Given the description of an element on the screen output the (x, y) to click on. 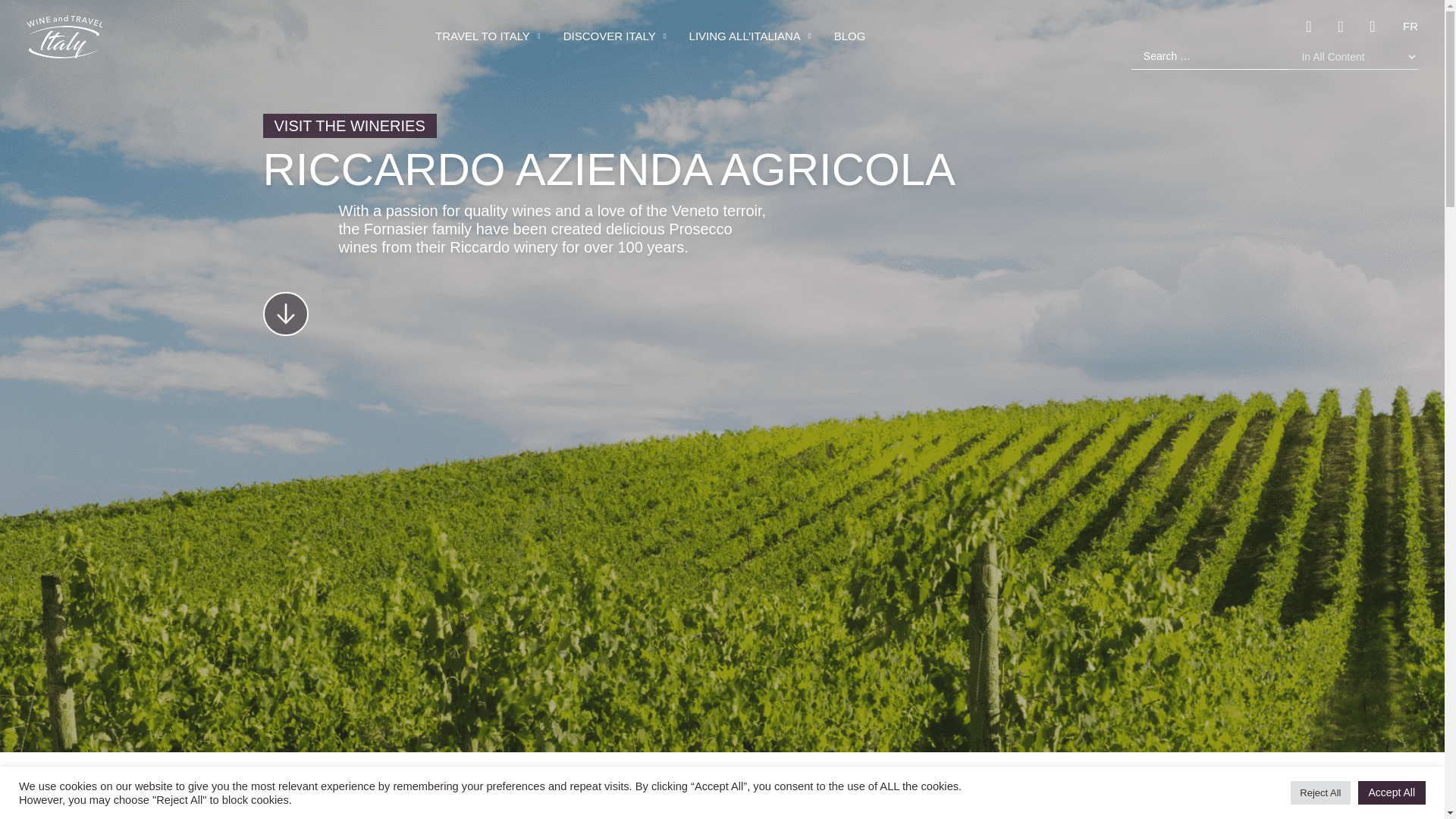
TRAVEL TO ITALY (487, 36)
FR (1409, 26)
DISCOVER ITALY (614, 36)
BLOG (850, 36)
